Given the description of an element on the screen output the (x, y) to click on. 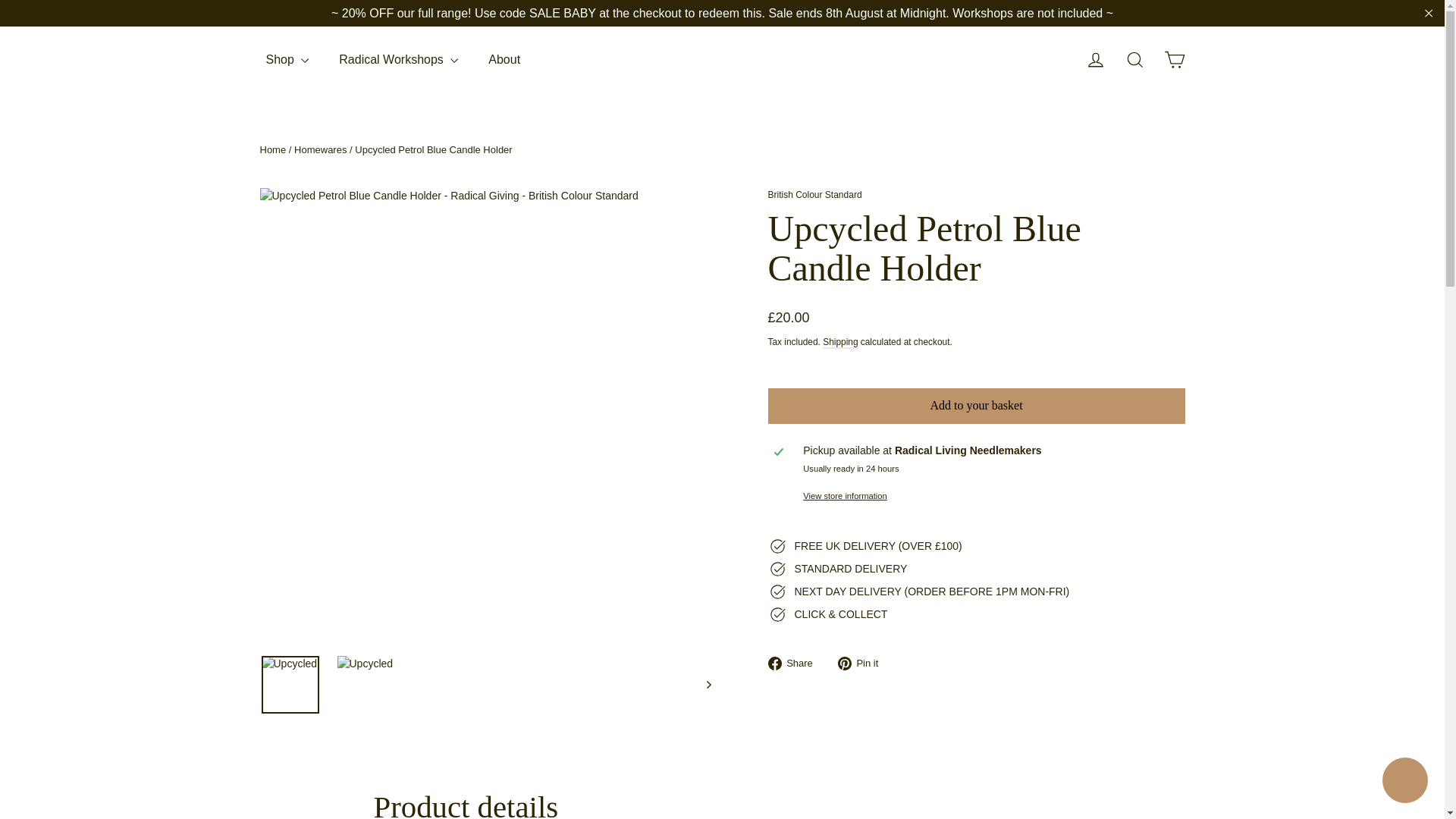
British Colour Standard (814, 194)
Share on Facebook (795, 662)
Pin on Pinterest (863, 662)
Shopify online store chat (1404, 781)
Back to the frontpage (272, 149)
